Given the description of an element on the screen output the (x, y) to click on. 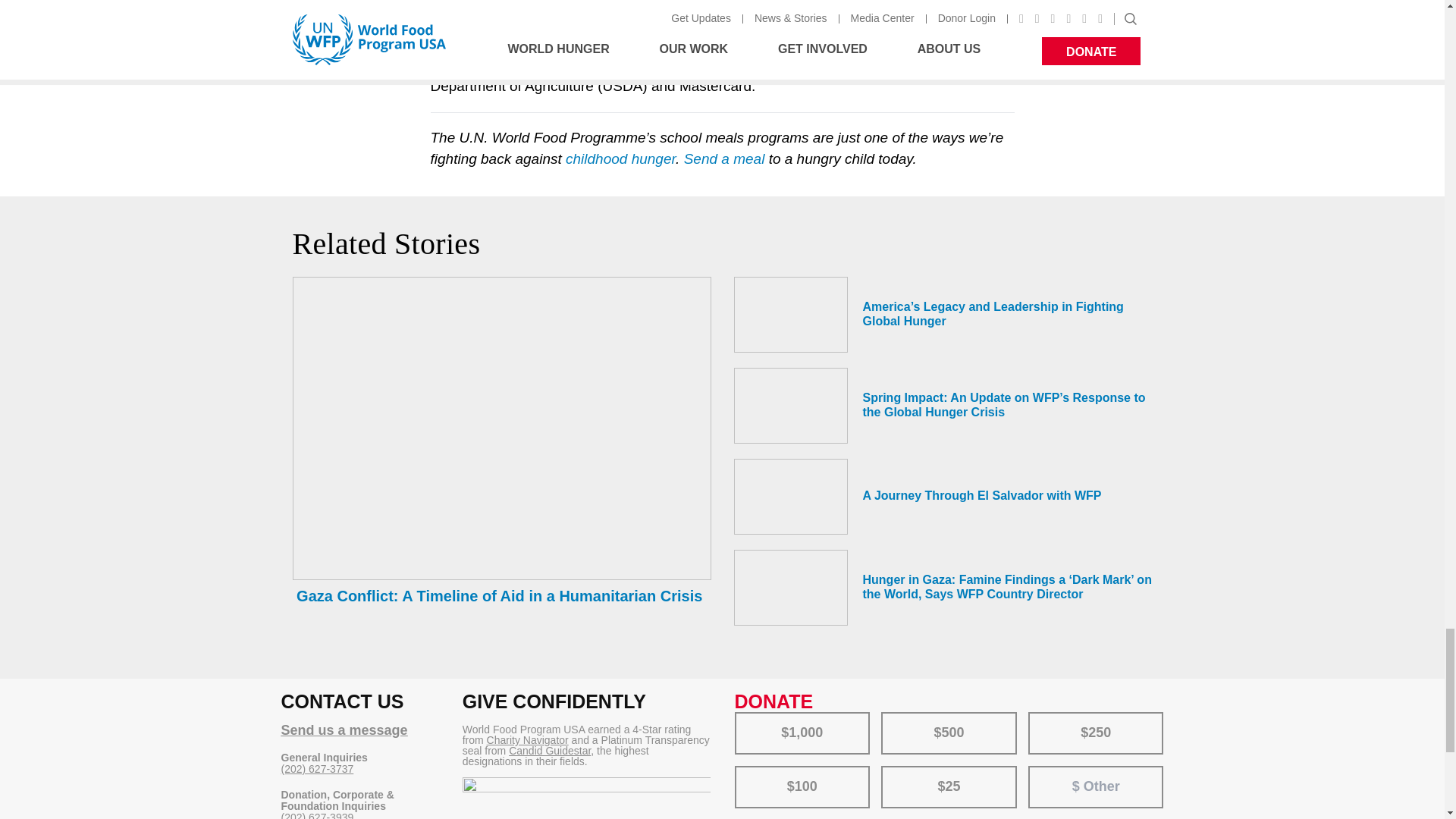
250 (1038, 716)
25 (891, 770)
1,000 (744, 716)
500 (891, 716)
100 (744, 770)
custom (1046, 772)
